Given the description of an element on the screen output the (x, y) to click on. 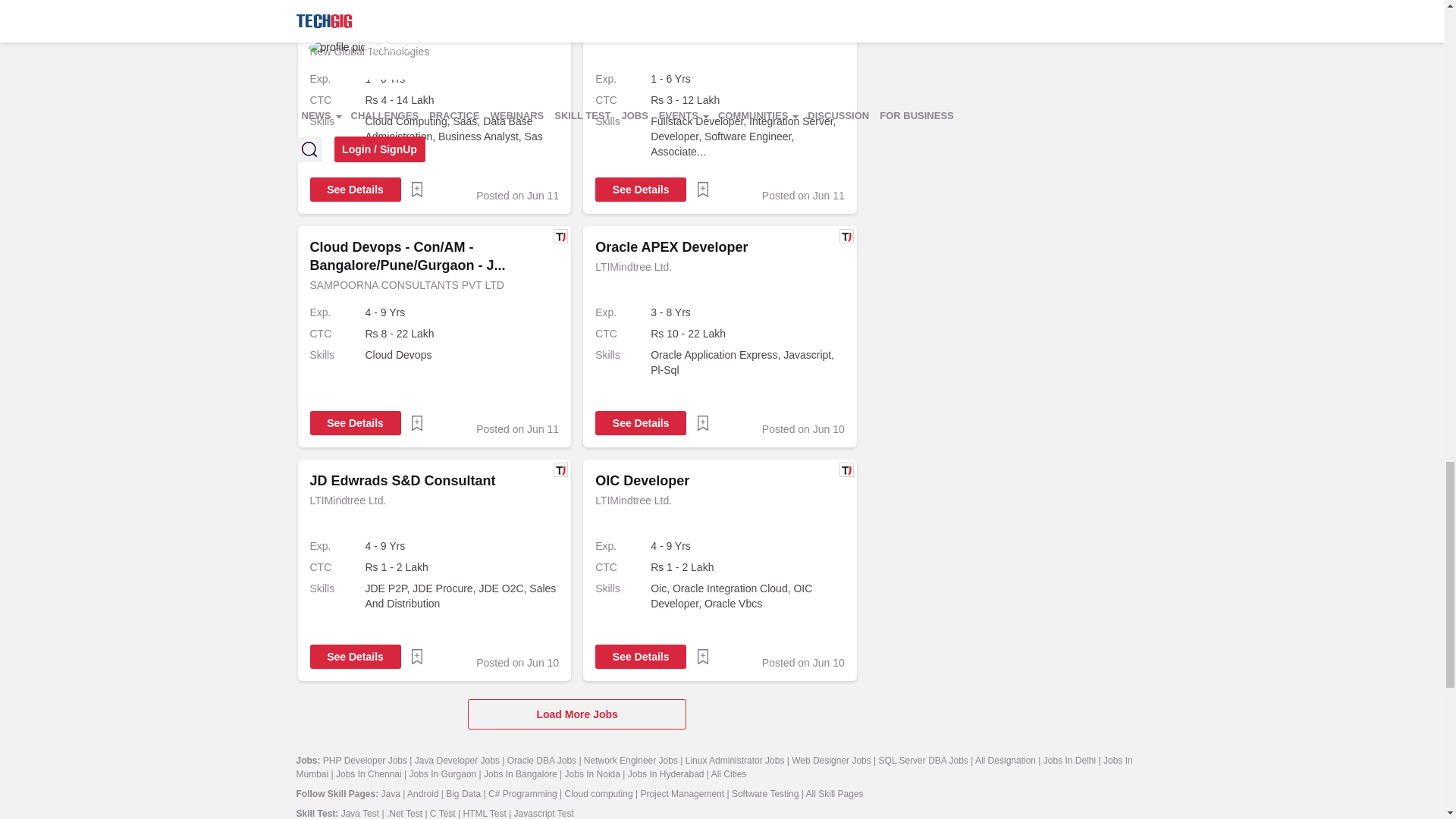
Save Job (416, 189)
Save Job (702, 189)
Sourced from TJ (560, 236)
Fullstack Developer, Integration Server, Developer, sof... (747, 135)
Sourced from TJ (846, 236)
Sourced from TJ (846, 4)
Save Job (702, 656)
Sourced from TJ (560, 4)
Save Job (416, 656)
Cloud Devops (462, 354)
Oracle Application Express, Javascript, pl-sql (747, 362)
JDE P2P, JDE Procure, JDE O2C, sales and distribution (462, 595)
Save Job (702, 422)
oic, oracle integration cloud, OIC developer, oracle vb... (747, 595)
Cloud Computing, Saas, Data Base Administration, busine... (462, 135)
